Given the description of an element on the screen output the (x, y) to click on. 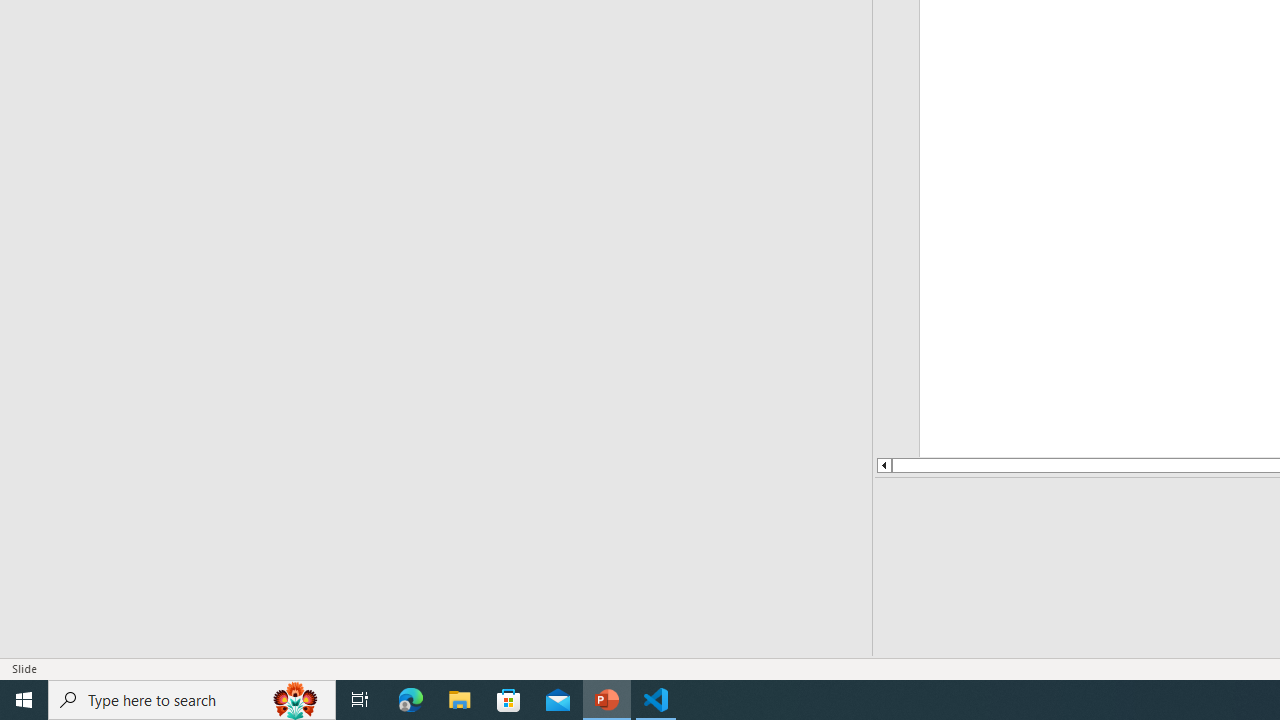
Task View (359, 699)
Search highlights icon opens search home window (295, 699)
Type here to search (191, 699)
Start (24, 699)
Visual Studio Code - 1 running window (656, 699)
Microsoft Edge (411, 699)
Microsoft Store (509, 699)
PowerPoint - 1 running window (607, 699)
File Explorer (460, 699)
